Given the description of an element on the screen output the (x, y) to click on. 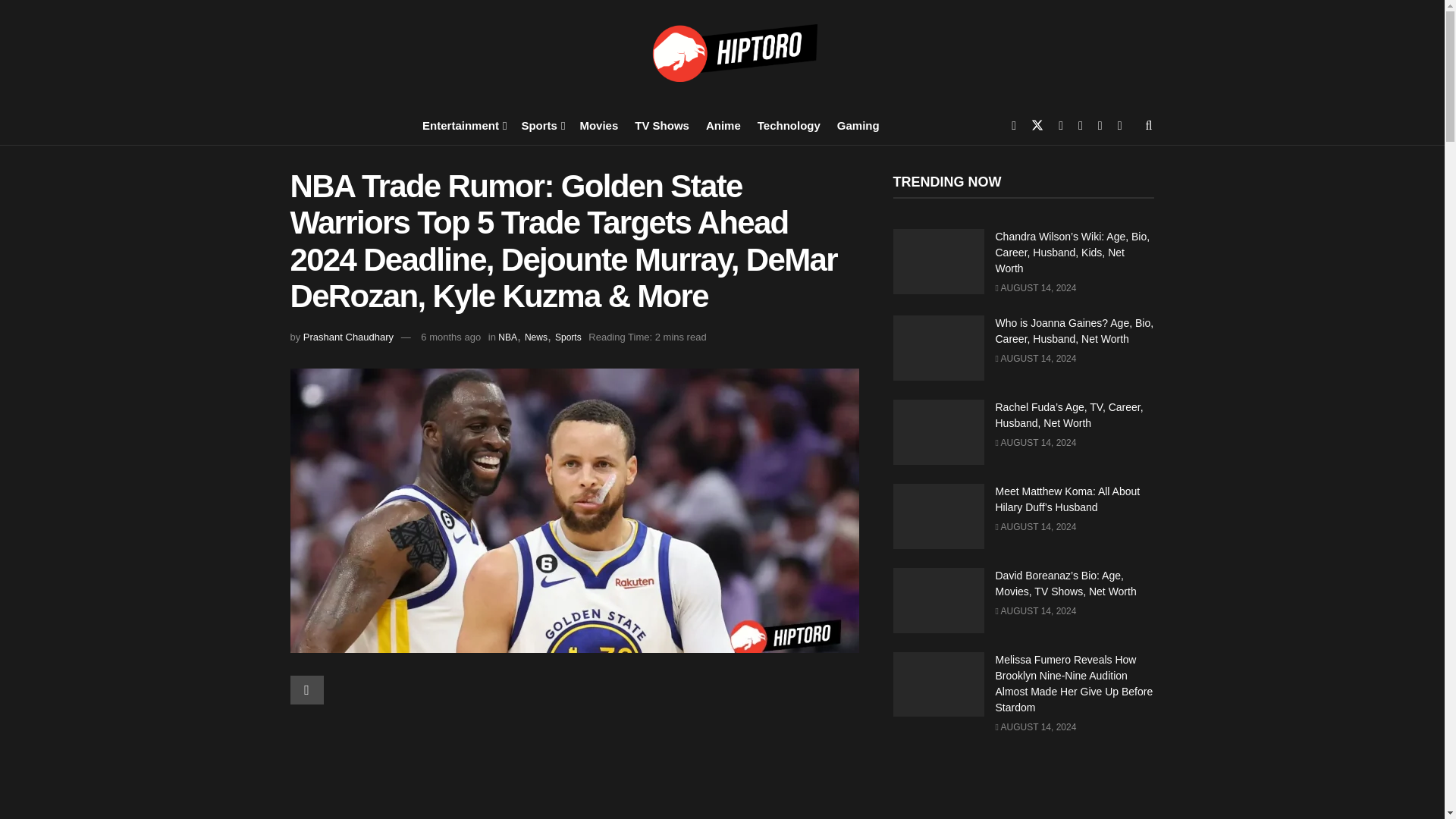
TV Shows (661, 124)
Technology (789, 124)
Movies (598, 124)
NBA (506, 337)
6 months ago (450, 337)
Entertainment (462, 124)
Anime (723, 124)
Prashant Chaudhary (347, 337)
Sports (541, 124)
Gaming (858, 124)
